Given the description of an element on the screen output the (x, y) to click on. 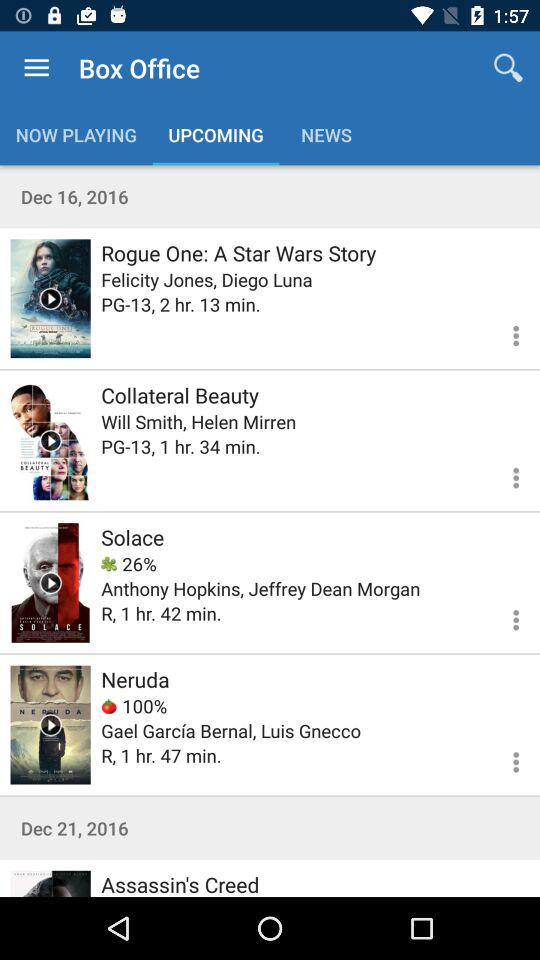
he can activate the simple voice command (50, 440)
